Given the description of an element on the screen output the (x, y) to click on. 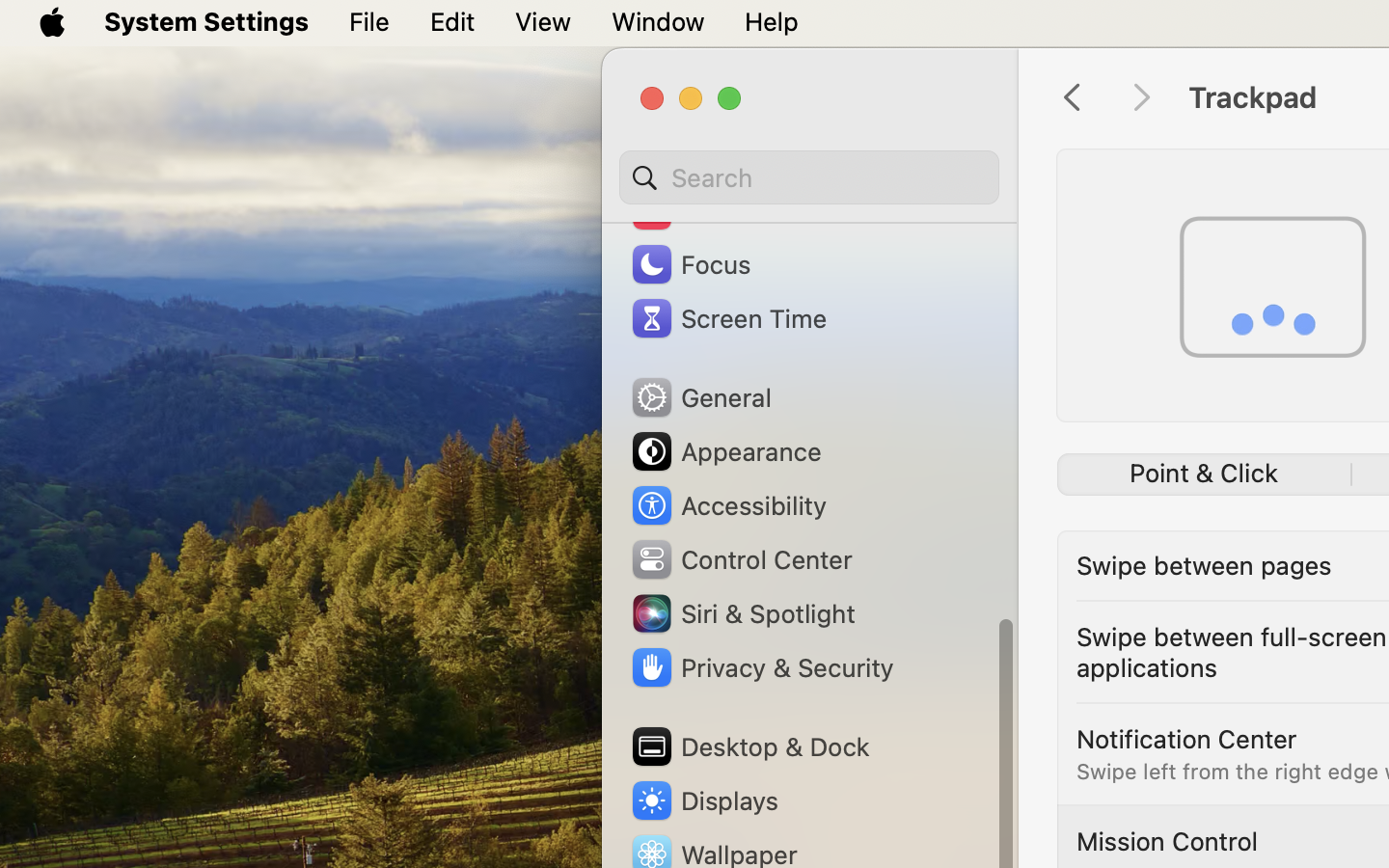
Displays Element type: AXStaticText (703, 800)
Notification Center Element type: AXStaticText (1186, 738)
Focus Element type: AXStaticText (689, 264)
Siri & Spotlight Element type: AXStaticText (741, 613)
